Given the description of an element on the screen output the (x, y) to click on. 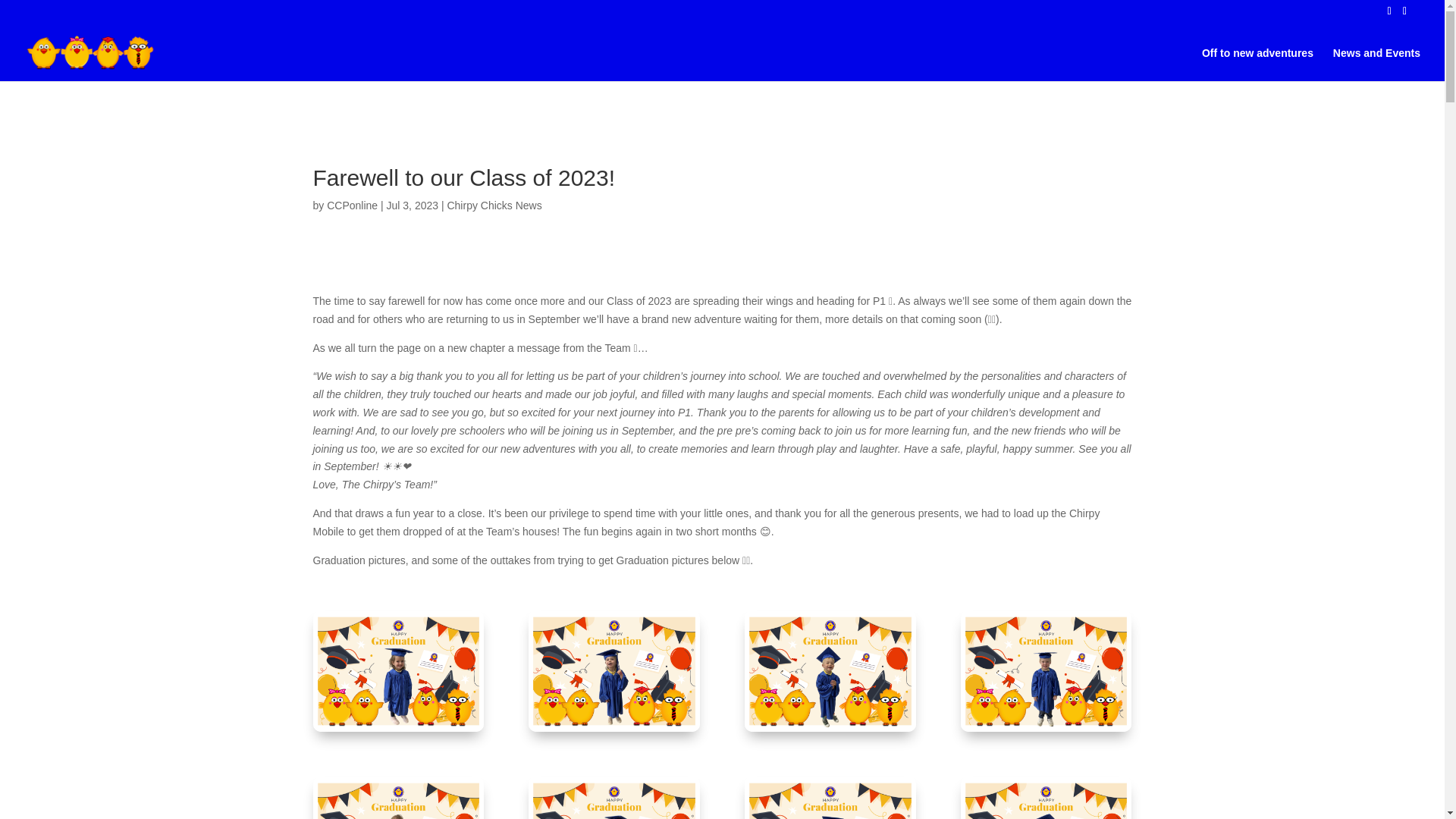
Chirpy Chicks News (493, 205)
Off to new adventures (1257, 63)
CCPonline (351, 205)
News and Events (1377, 63)
Posts by CCPonline (351, 205)
